Given the description of an element on the screen output the (x, y) to click on. 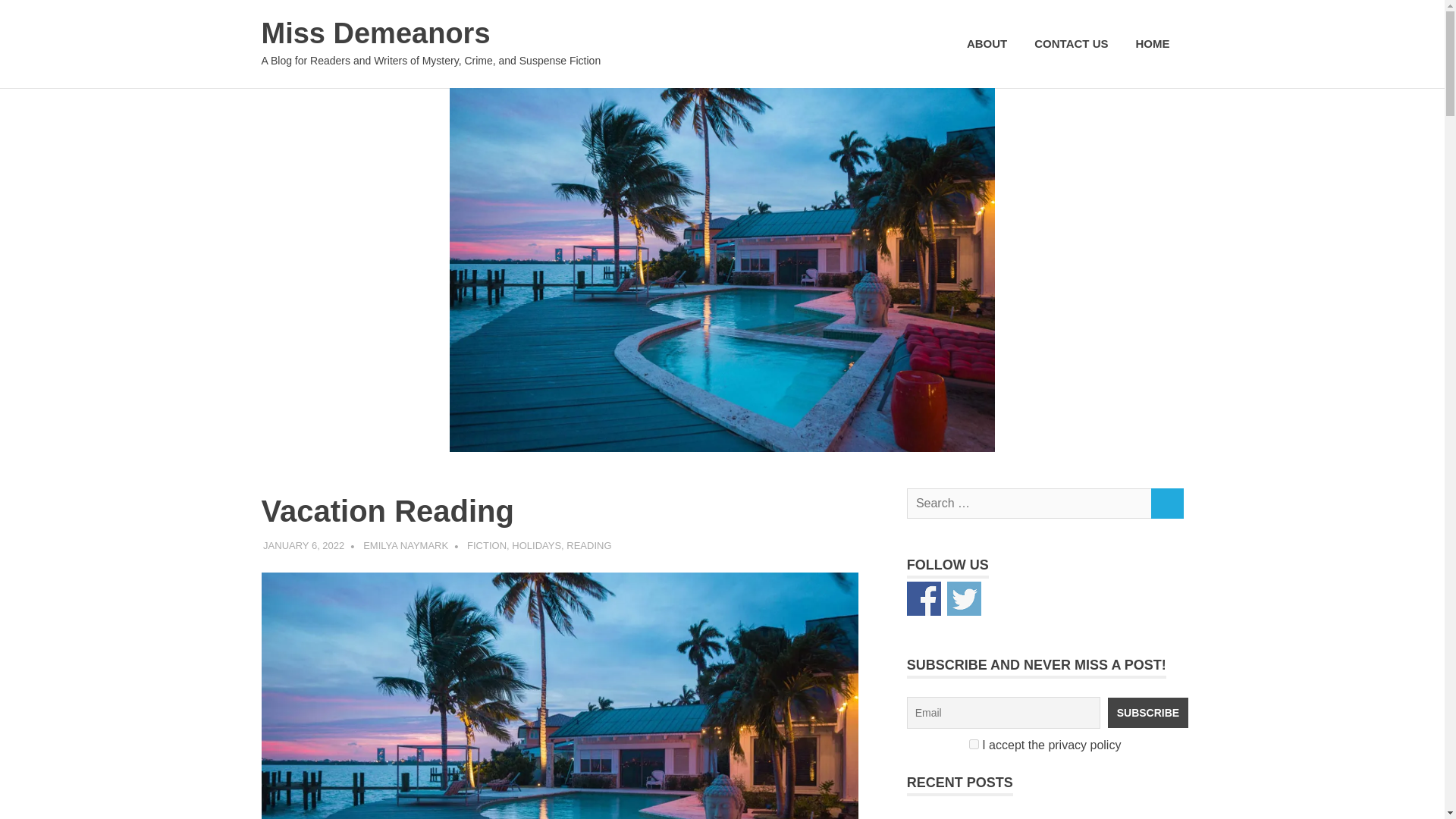
Subscribe (1148, 712)
CONTACT US (1070, 44)
SEARCH (1166, 503)
ABOUT (986, 44)
Facebook (923, 598)
FICTION (486, 545)
JANUARY 6, 2022 (303, 545)
EMILYA NAYMARK (405, 545)
Miss Demeanors (374, 33)
READING (588, 545)
